Given the description of an element on the screen output the (x, y) to click on. 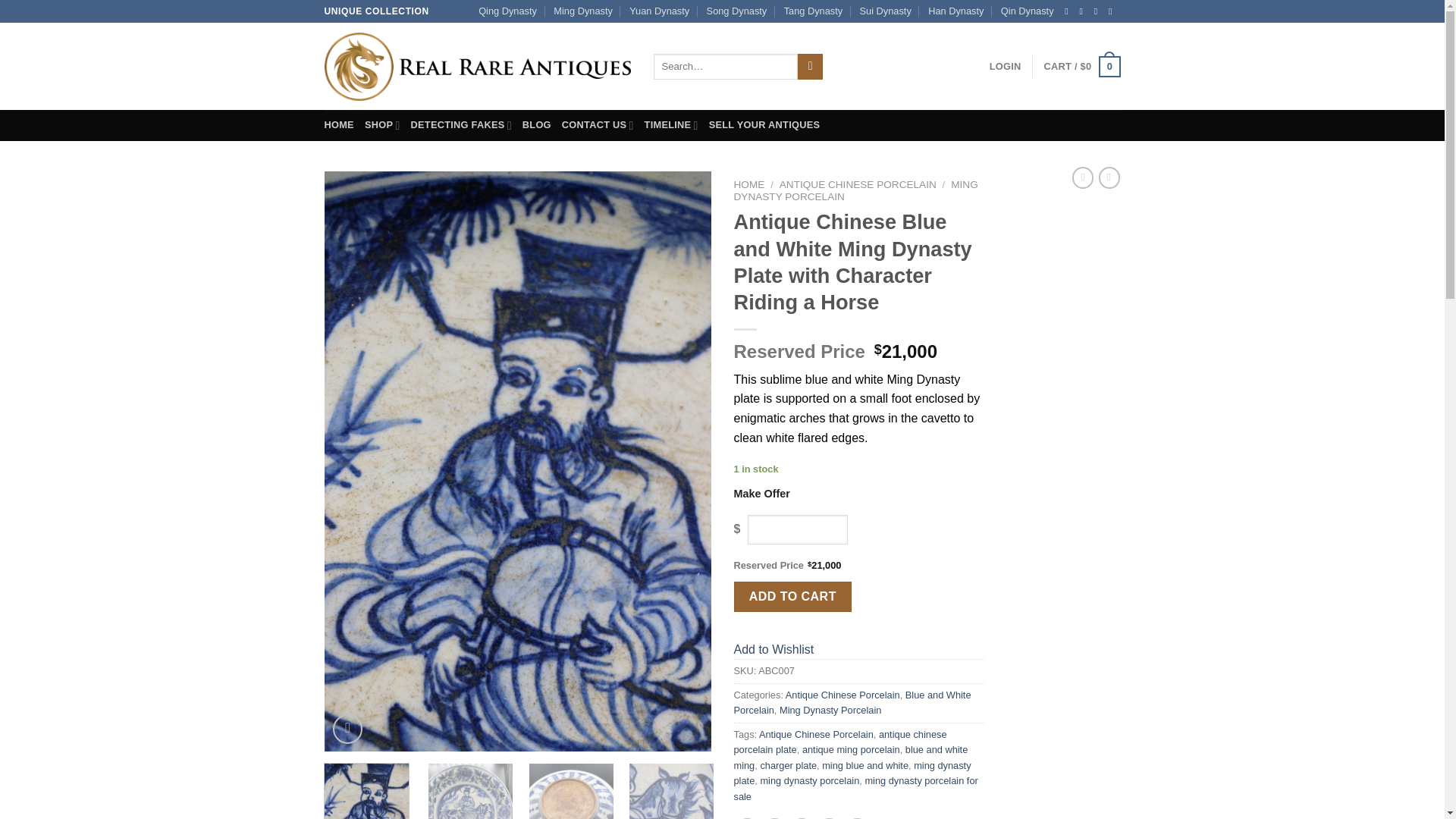
Song Dynasty (736, 11)
DETECTING FAKES (461, 124)
Han Dynasty (956, 11)
Search (809, 66)
Early Ming Dynasty Antique Chinese Porcelain Platee (904, 300)
Qin Dynasty (1027, 11)
SHOP (382, 124)
Yuan Dynasty (658, 11)
Tang Dynasty (813, 11)
HOME (338, 124)
